Given the description of an element on the screen output the (x, y) to click on. 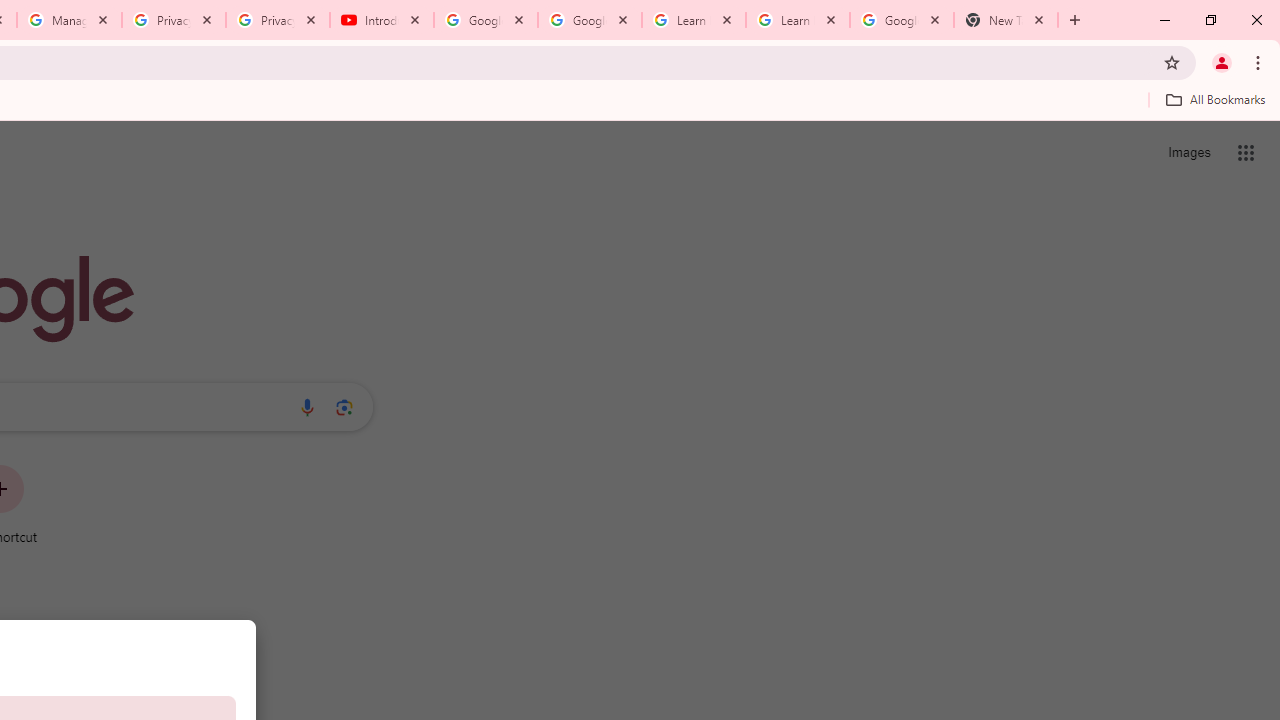
Introduction | Google Privacy Policy - YouTube (381, 20)
All Bookmarks (1215, 99)
Google Account (901, 20)
New Tab (1005, 20)
Google Account Help (589, 20)
